Given the description of an element on the screen output the (x, y) to click on. 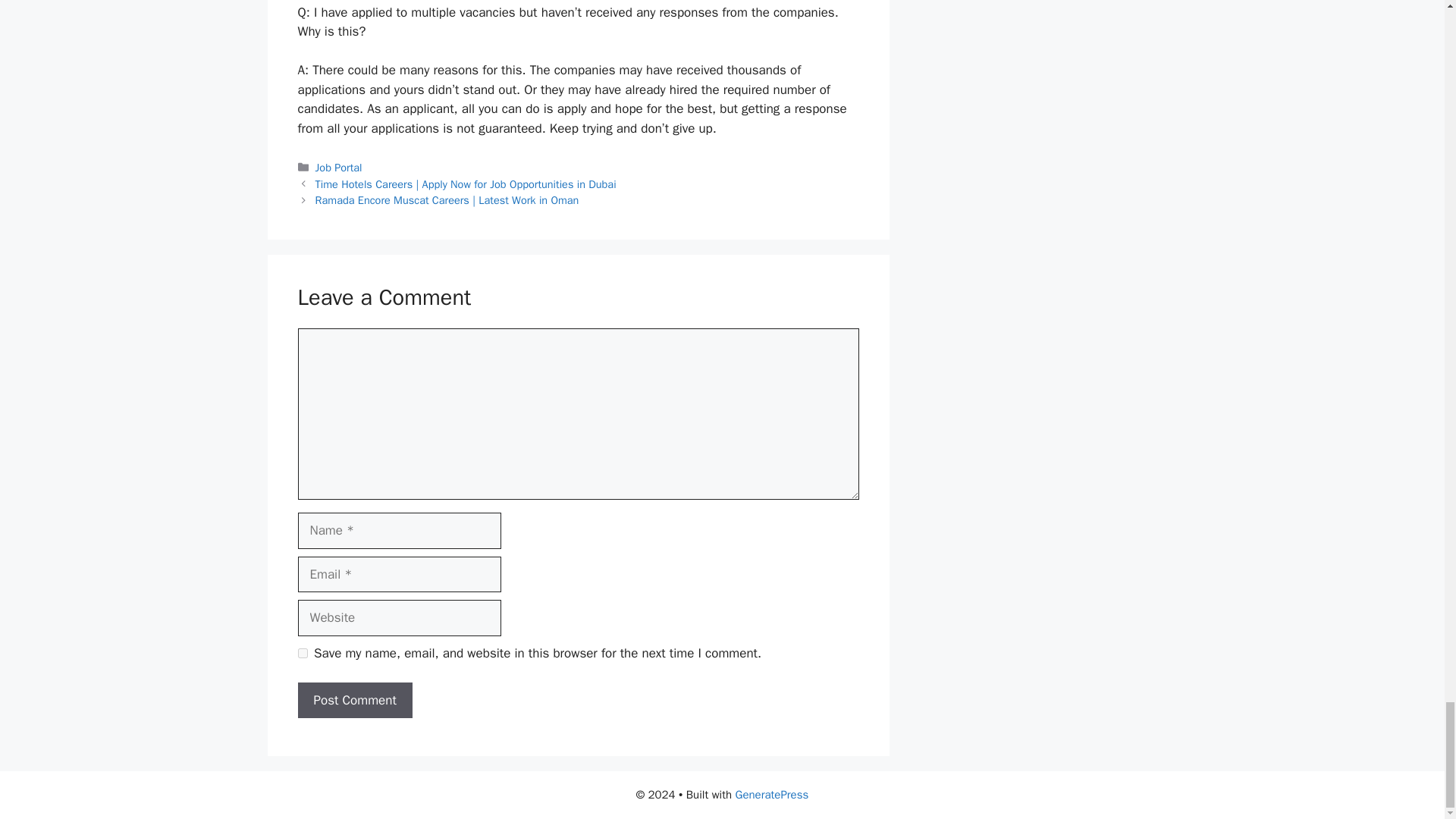
GeneratePress (772, 794)
Post Comment (354, 700)
Post Comment (354, 700)
Job Portal (338, 167)
yes (302, 653)
